Given the description of an element on the screen output the (x, y) to click on. 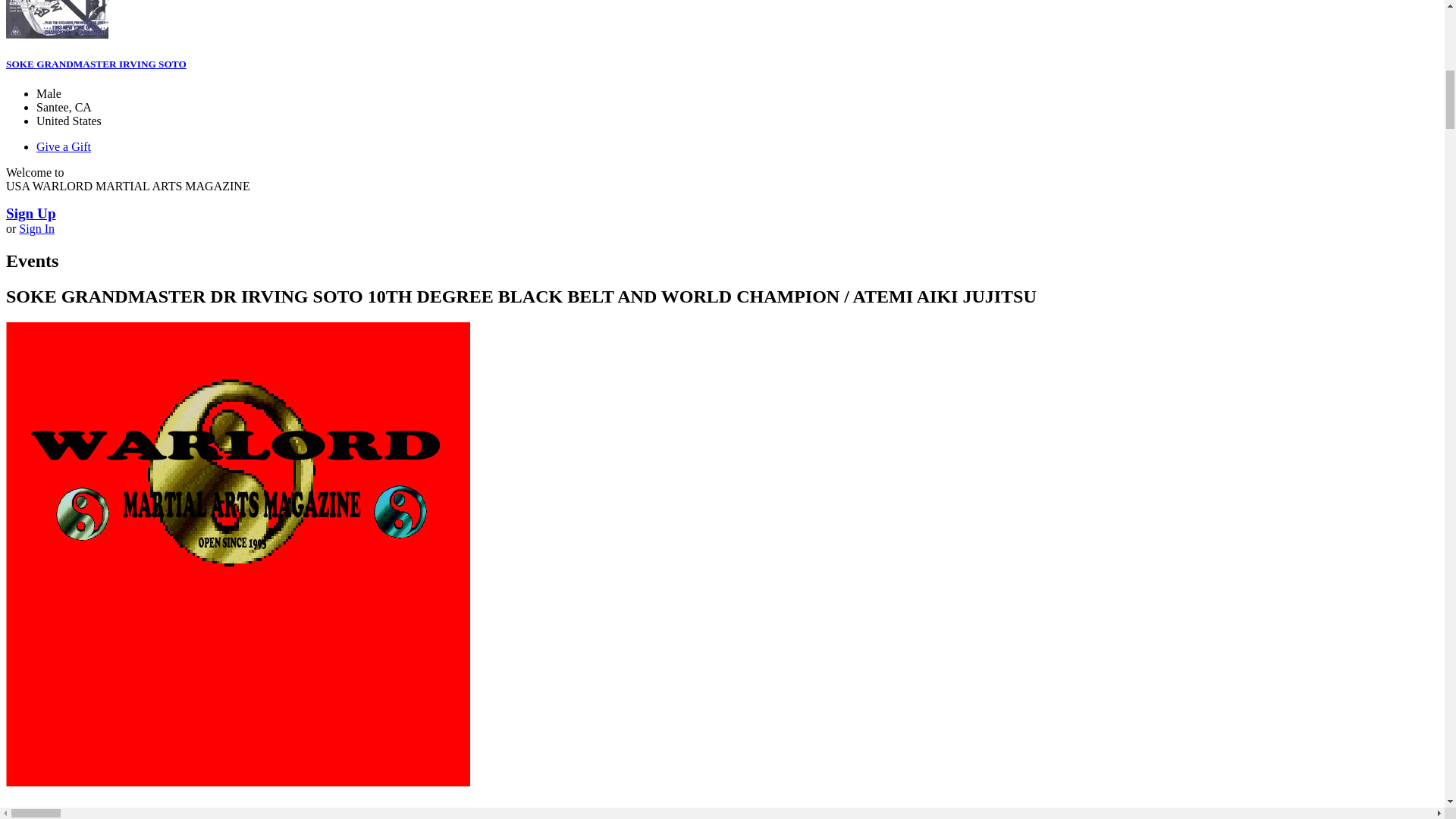
Give a Gift (63, 146)
SOKE GRANDMASTER IRVING SOTO (95, 63)
Sign Up (30, 213)
Sign In (36, 228)
SOKE  GRANDMASTER IRVING SOTO (56, 33)
